Given the description of an element on the screen output the (x, y) to click on. 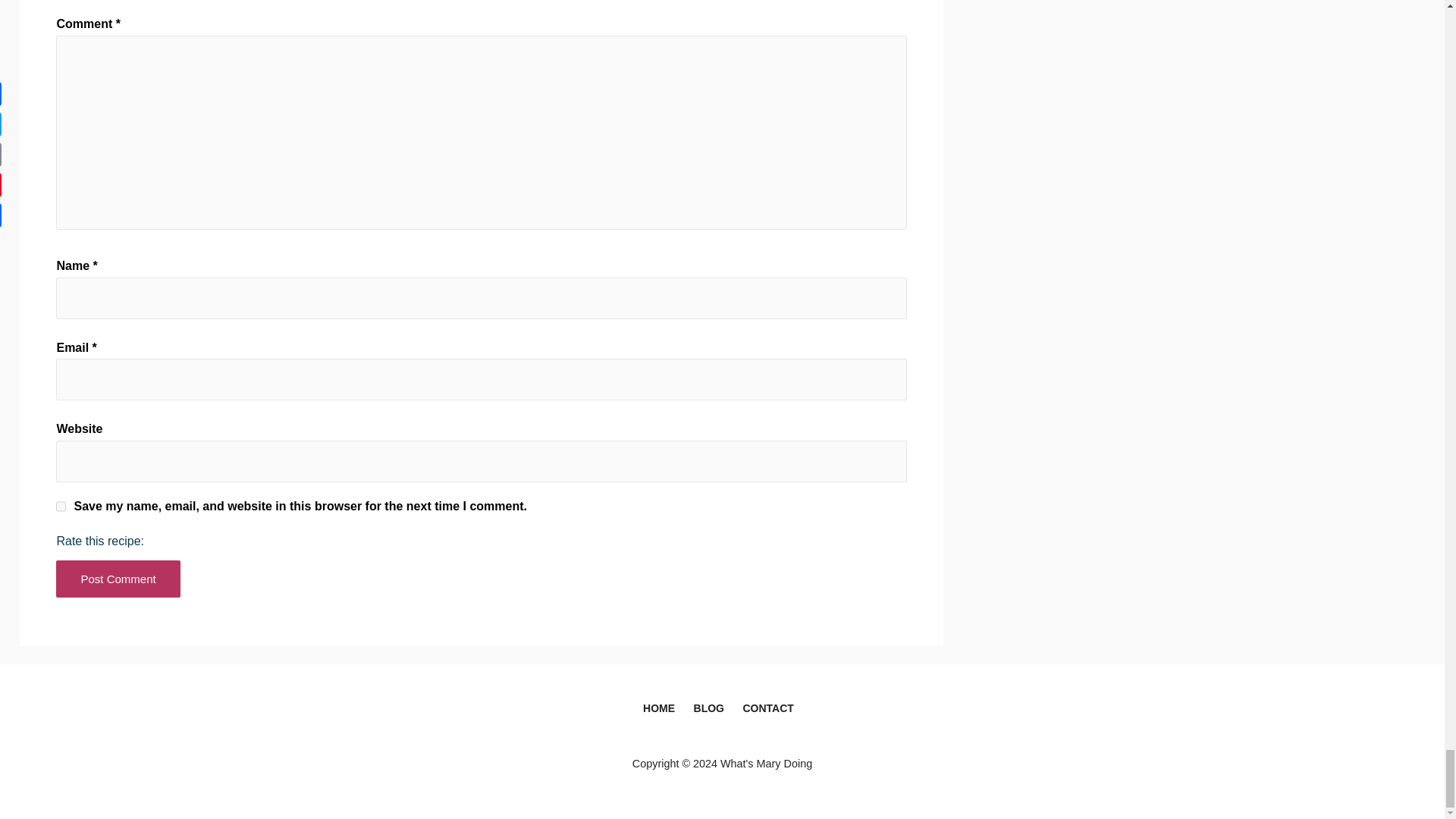
Post Comment (117, 578)
